Given the description of an element on the screen output the (x, y) to click on. 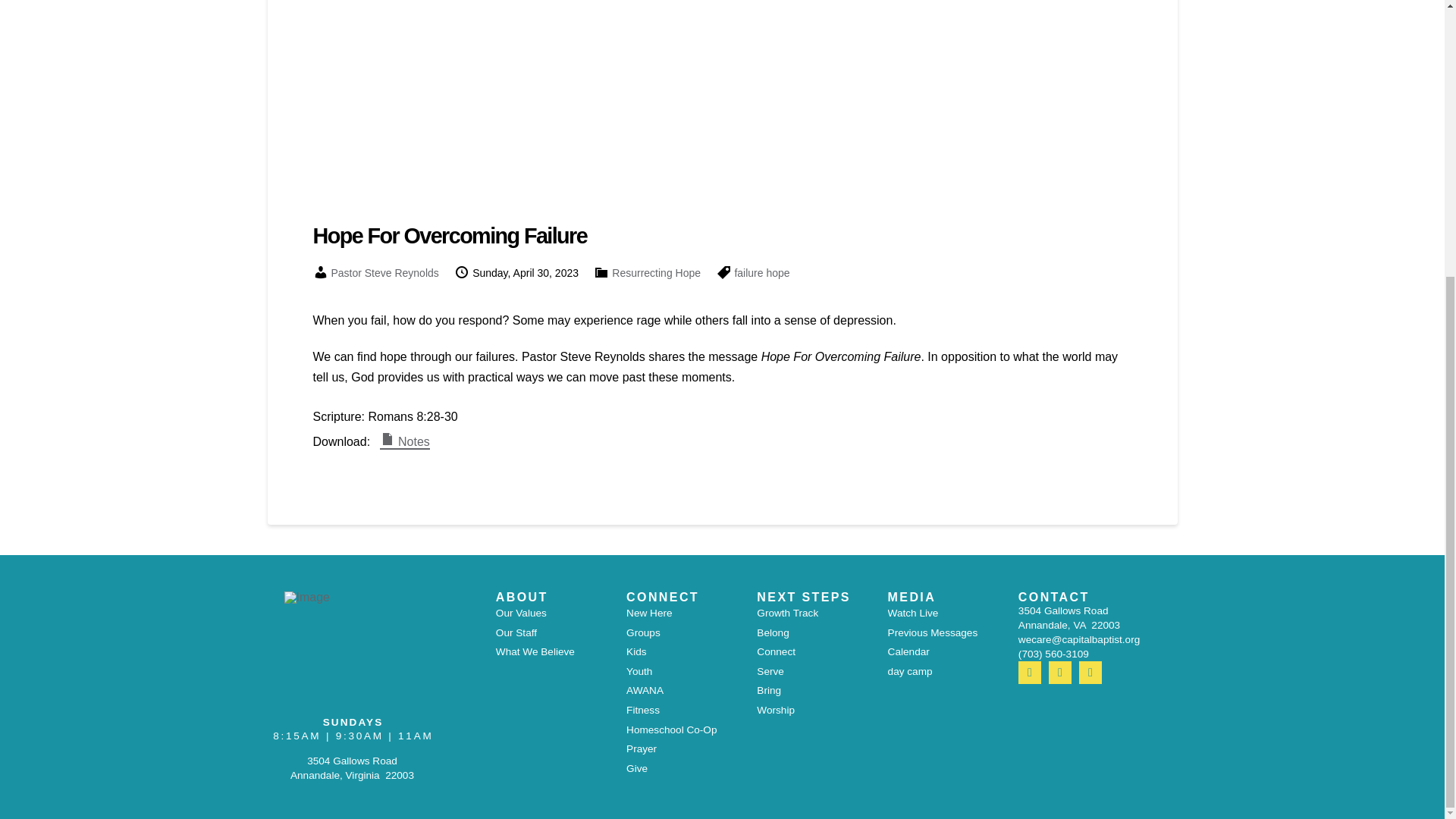
Calendar (909, 651)
Resurrecting Hope (655, 272)
What We Believe (535, 651)
Worship (775, 710)
Watch Live (913, 613)
Our Values (521, 613)
Homeschool Co-Op (671, 730)
Kids (636, 651)
Prayer (641, 749)
Growth Track (787, 613)
